Given the description of an element on the screen output the (x, y) to click on. 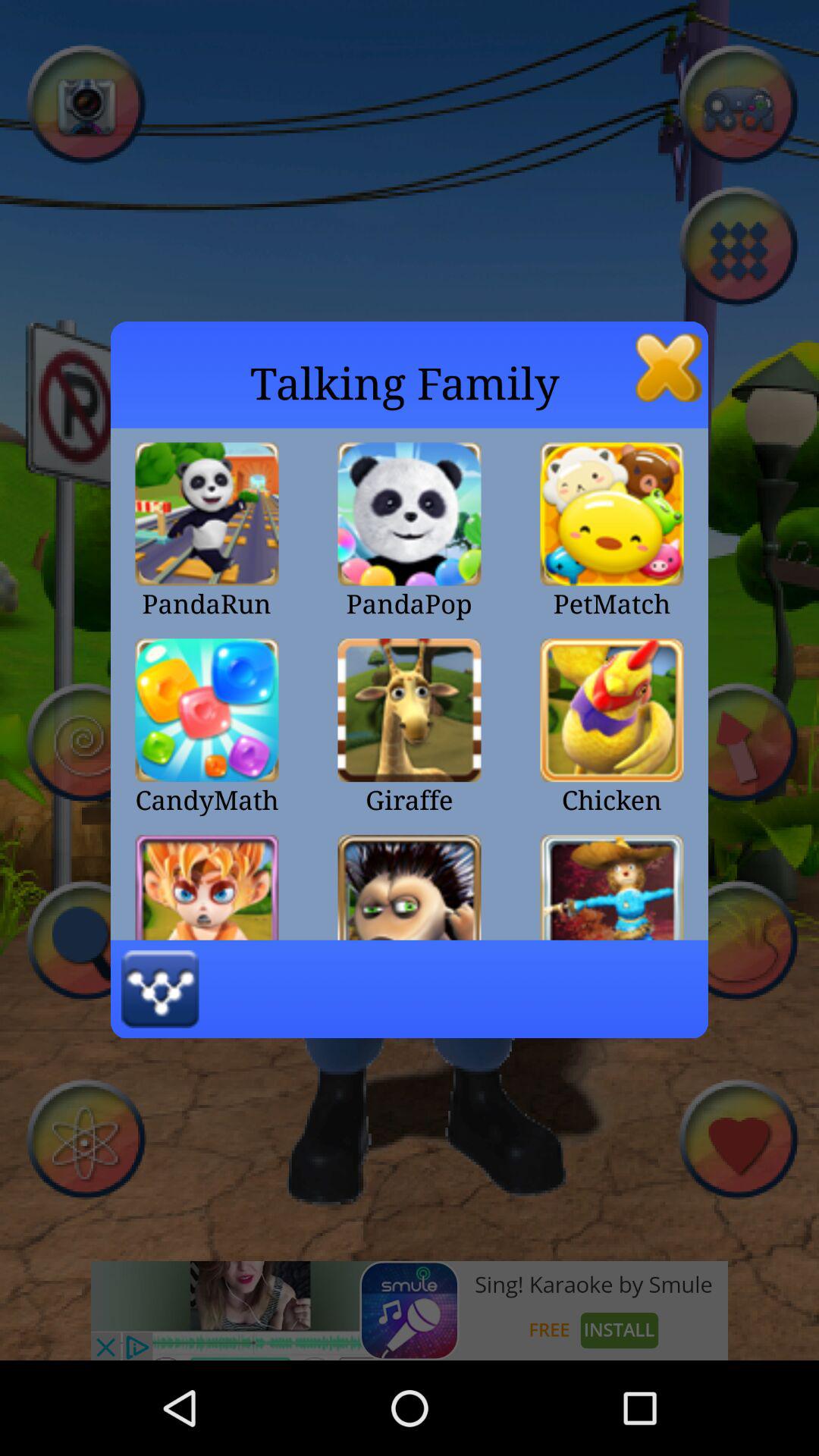
choose the icon at the bottom left corner (160, 989)
